Given the description of an element on the screen output the (x, y) to click on. 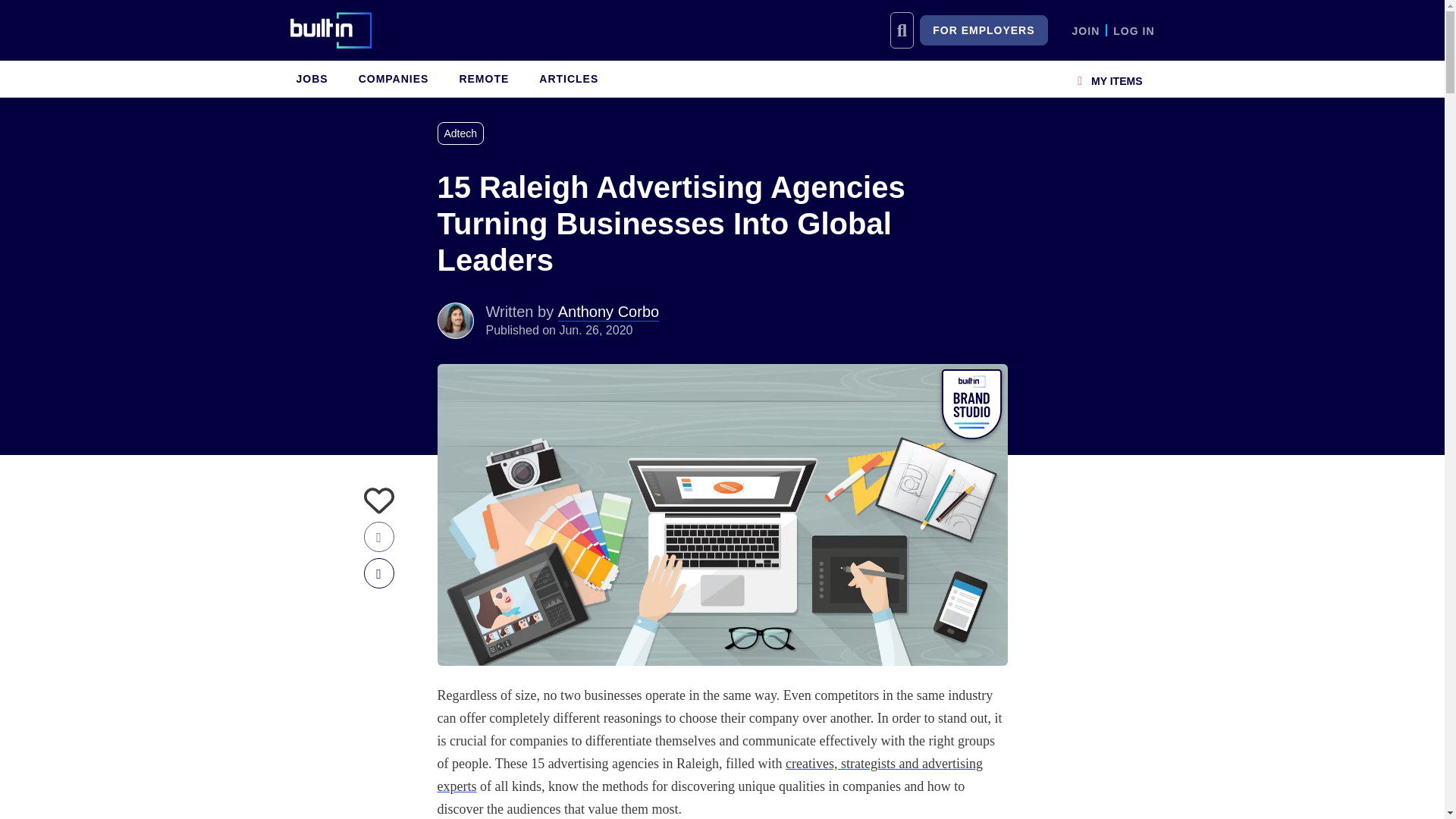
Adtech (462, 133)
Anthony Corbo (455, 320)
FOR EMPLOYERS (983, 30)
LOG IN (1133, 30)
MY ITEMS (1109, 78)
COMPANIES (393, 78)
Adtech (462, 133)
REMOTE (483, 78)
ARTICLES (568, 78)
